Given the description of an element on the screen output the (x, y) to click on. 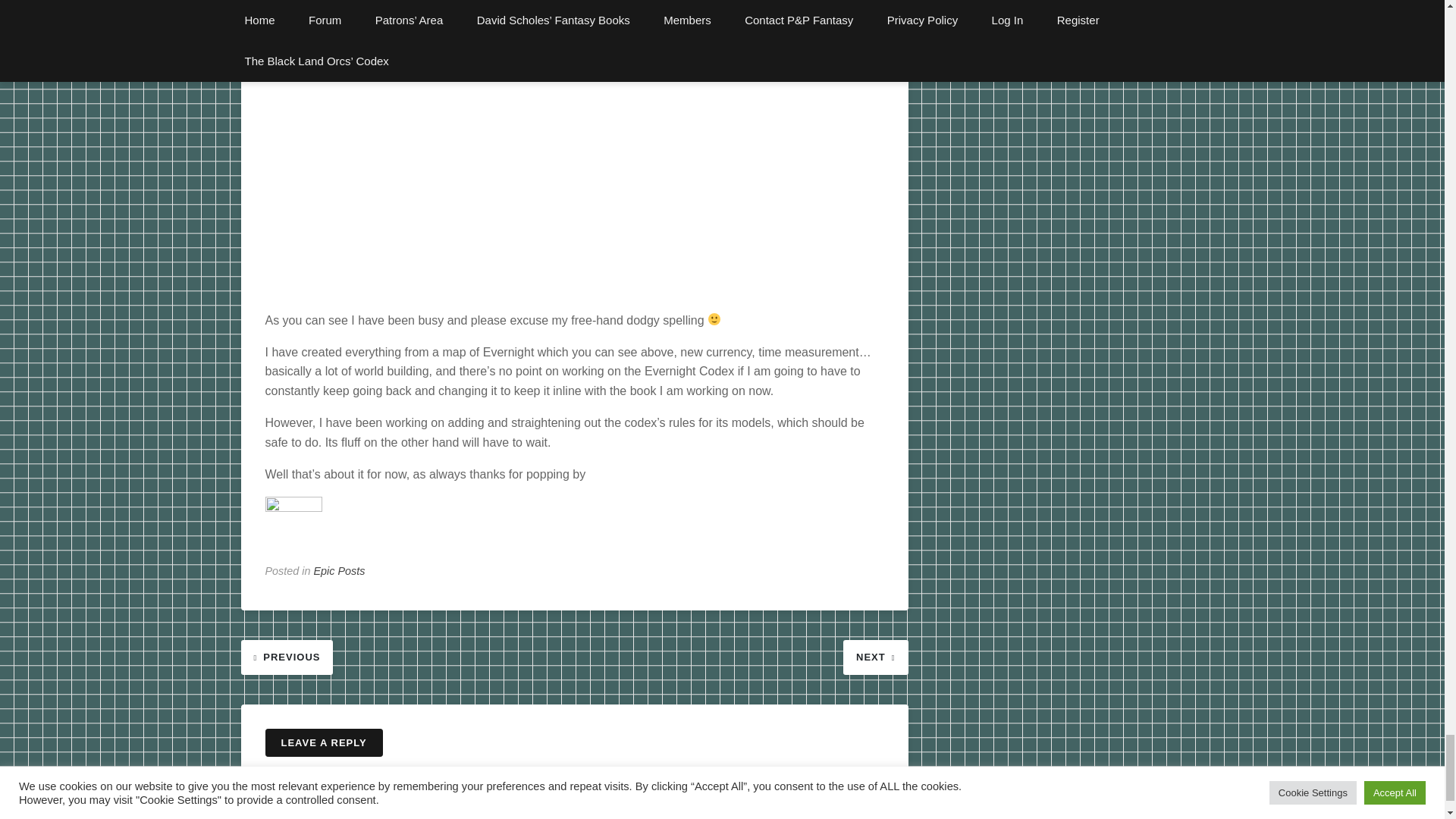
PREVIOUS (287, 656)
LEAVE A REPLY (323, 742)
Epic Posts (339, 571)
NEXT (875, 656)
